Given the description of an element on the screen output the (x, y) to click on. 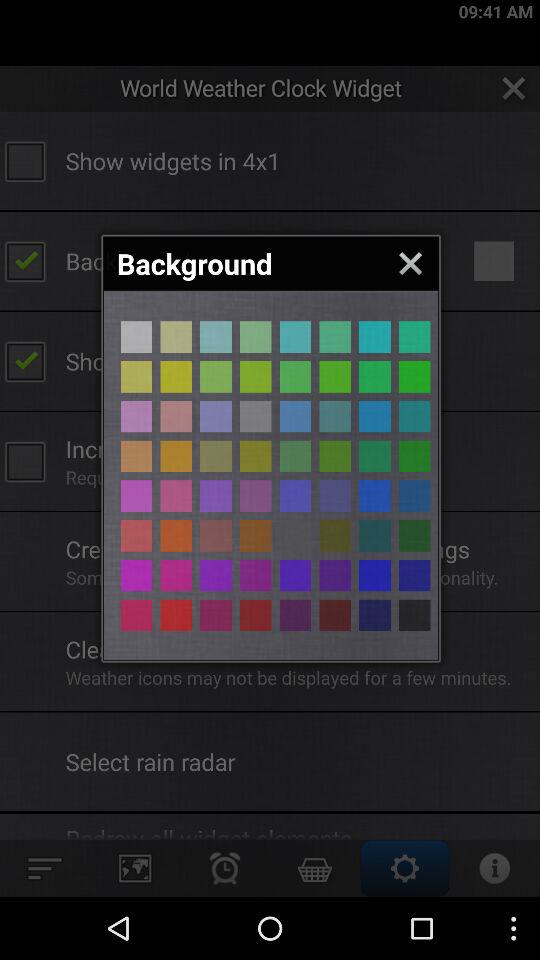
choose that color (295, 336)
